Given the description of an element on the screen output the (x, y) to click on. 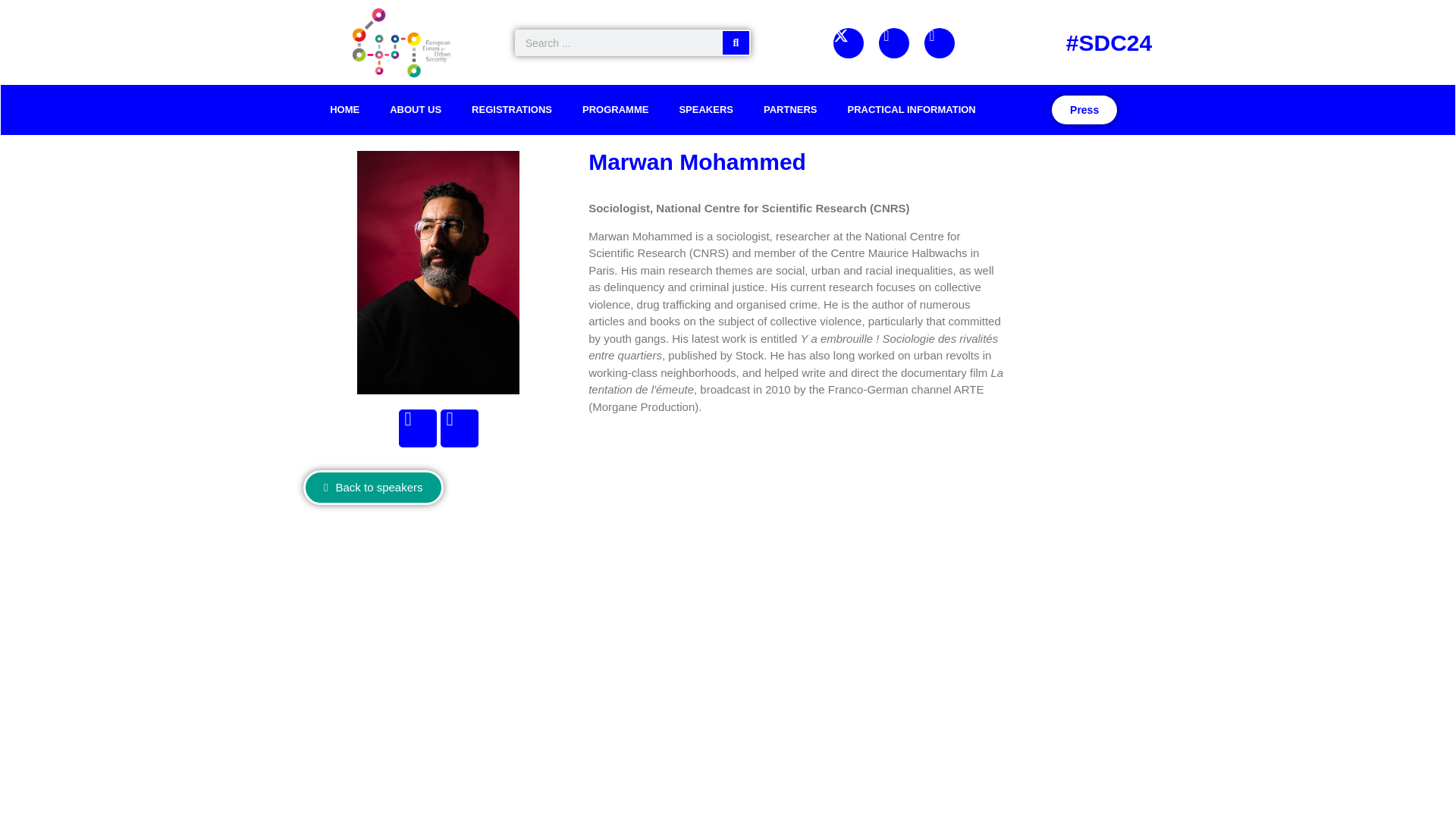
Back to speakers (373, 487)
PRACTICAL INFORMATION (911, 109)
PROGRAMME (615, 109)
PARTNERS (790, 109)
SPEAKERS (705, 109)
ABOUT US (415, 109)
HOME (344, 109)
REGISTRATIONS (512, 109)
Press (1083, 109)
